Given the description of an element on the screen output the (x, y) to click on. 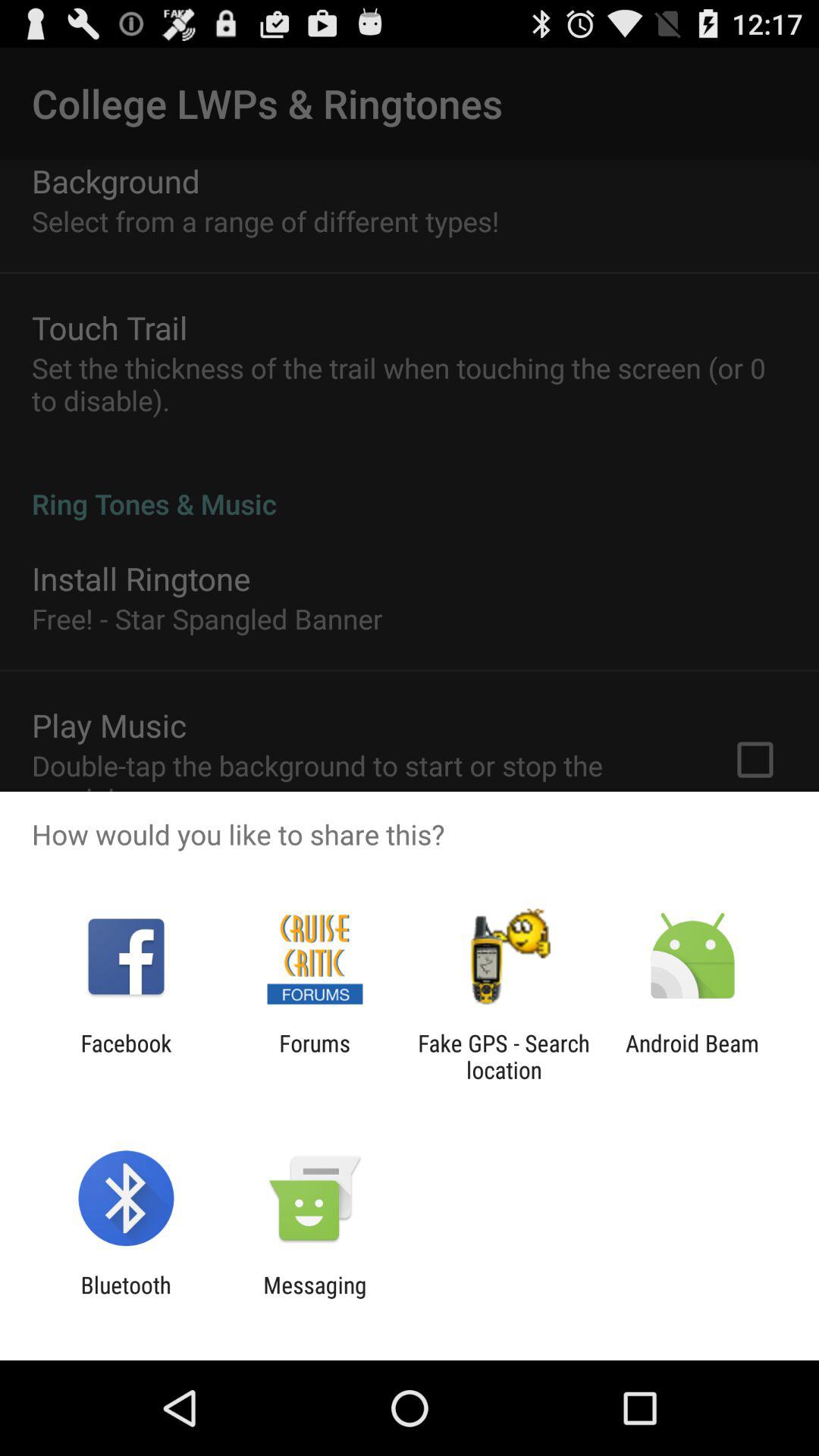
choose forums item (314, 1056)
